Given the description of an element on the screen output the (x, y) to click on. 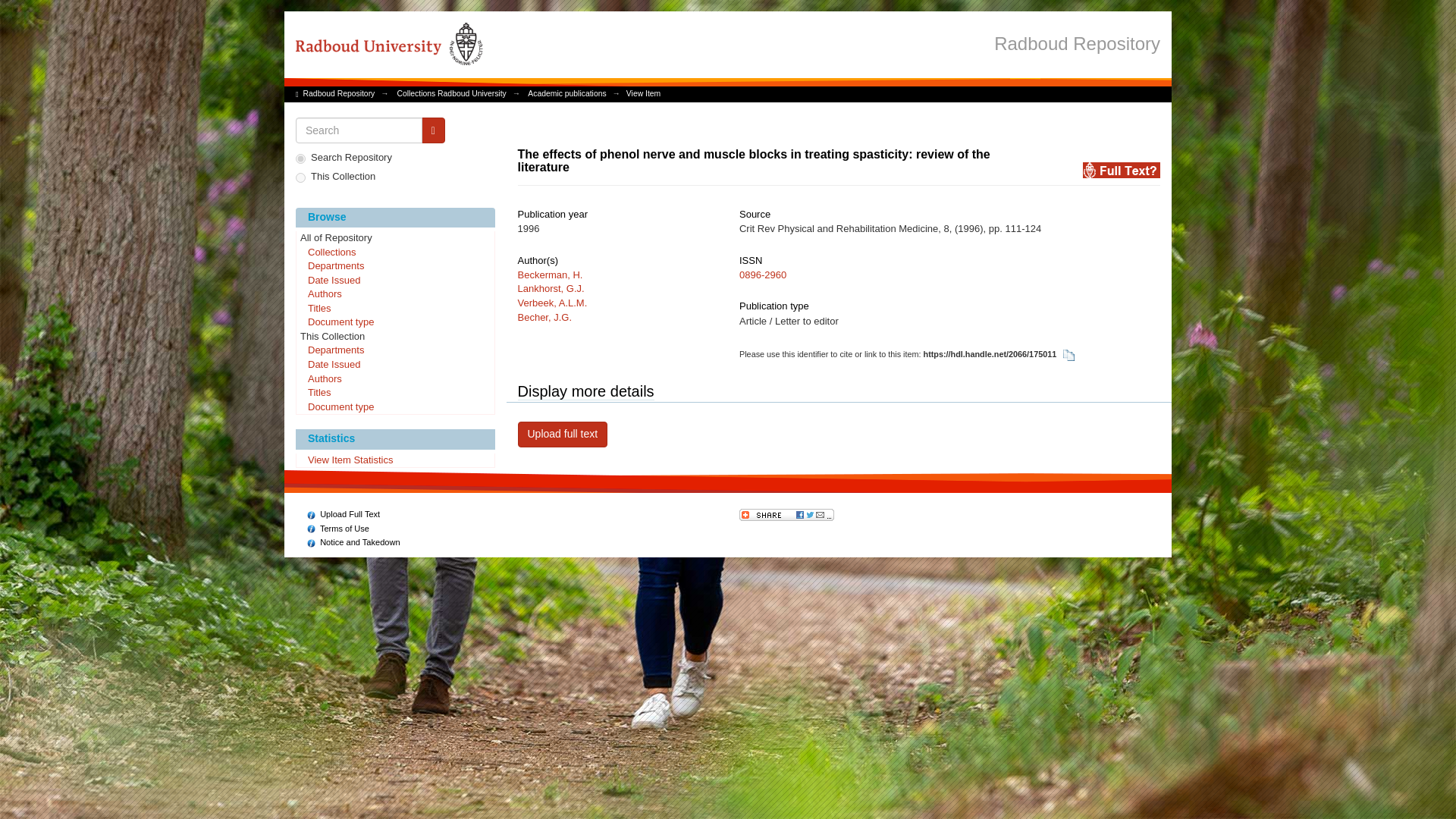
Becher, J.G. (544, 317)
Go (433, 130)
Radboud Repository (1077, 43)
Academic publications (566, 93)
Departments (395, 266)
This Collection (395, 337)
Collections (395, 253)
View Item Statistics (395, 460)
Information about the Terms of Use (338, 528)
 Terms of Use (338, 528)
